Given the description of an element on the screen output the (x, y) to click on. 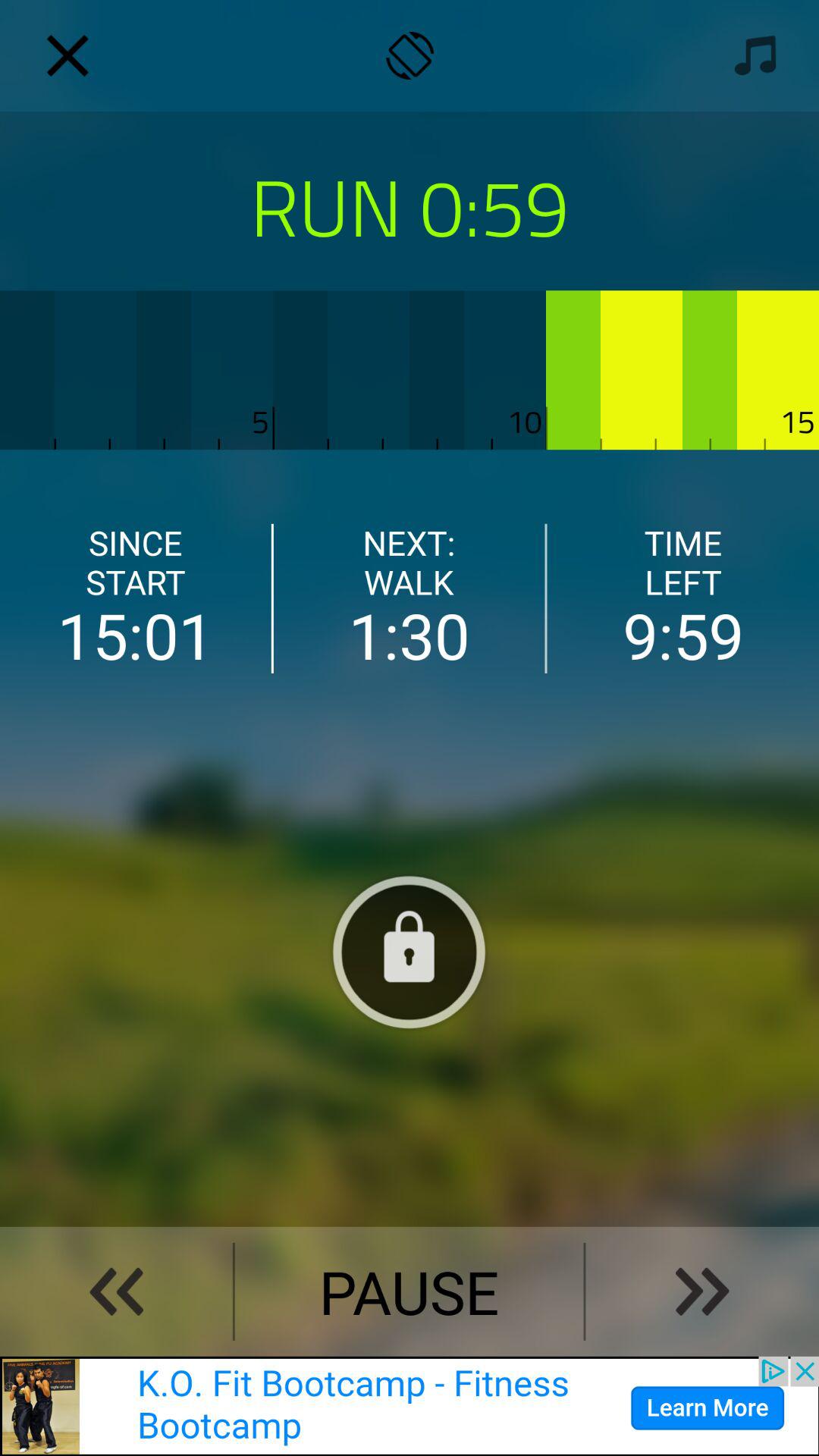
lock values (408, 951)
